Given the description of an element on the screen output the (x, y) to click on. 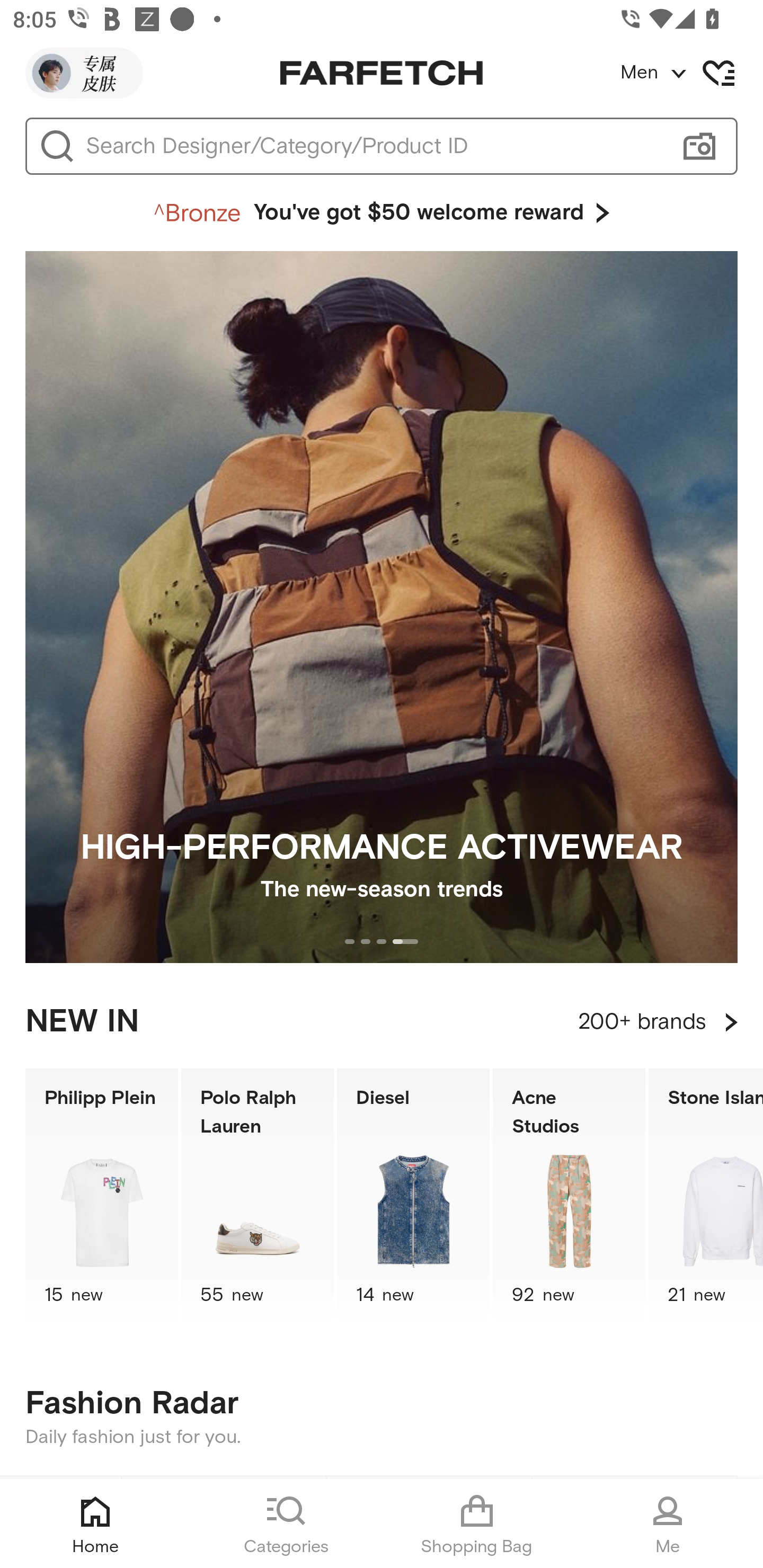
Men (691, 72)
Search Designer/Category/Product ID (373, 146)
You've got $50 welcome reward (381, 213)
NEW IN 200+ brands (381, 1021)
Philipp Plein 15  new (101, 1196)
Polo Ralph Lauren 55  new (257, 1196)
Diesel 14  new (413, 1196)
Acne Studios 92  new (568, 1196)
Stone Island 21  new (705, 1196)
Categories (285, 1523)
Shopping Bag (476, 1523)
Me (667, 1523)
